Given the description of an element on the screen output the (x, y) to click on. 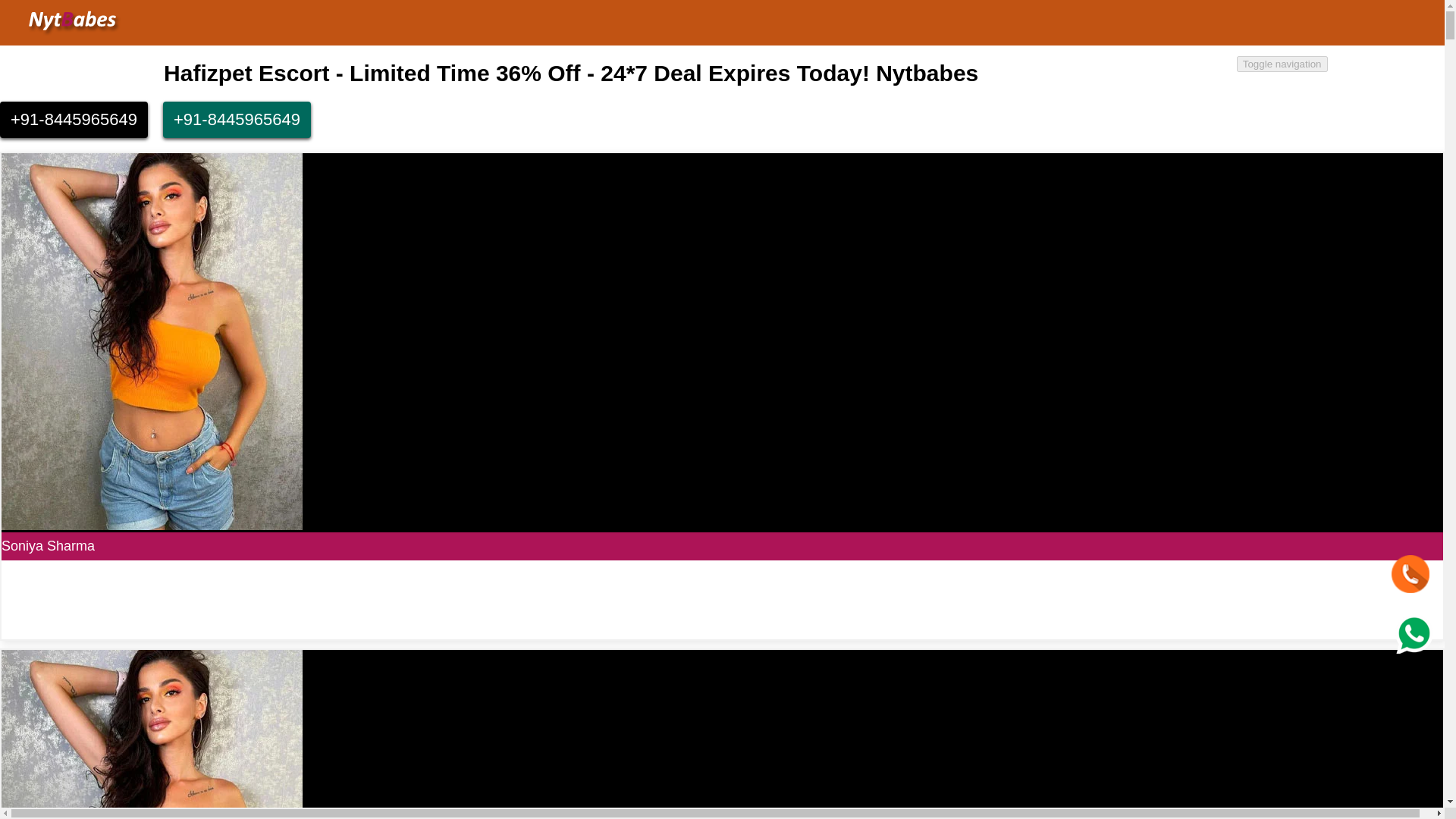
Toggle navigation (1281, 64)
CONTACT US (1365, 77)
Soniya Sharma (47, 545)
Chat with me (1413, 634)
GALLERY (1259, 77)
HOME (1176, 77)
Chat with me (1410, 573)
